Given the description of an element on the screen output the (x, y) to click on. 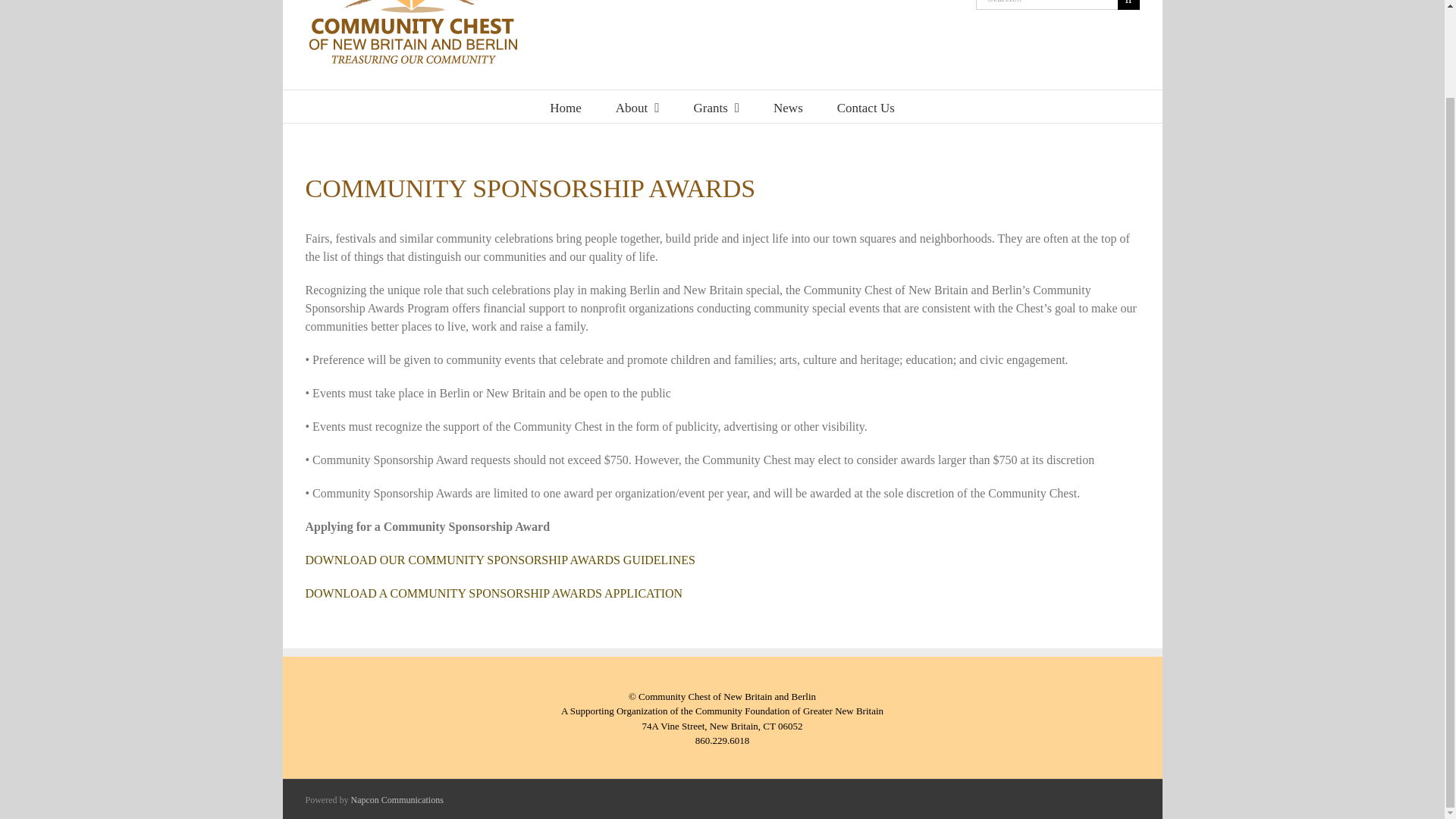
DOWNLOAD OUR COMMUNITY SPONSORSHIP AWARDS GUIDELINES (499, 559)
Home (565, 106)
Contact Us (866, 106)
DOWNLOAD A COMMUNITY SPONSORSHIP AWARDS APPLICATION (493, 593)
News (788, 106)
Napcon Communications (396, 799)
Grants (716, 106)
About (637, 106)
